Given the description of an element on the screen output the (x, y) to click on. 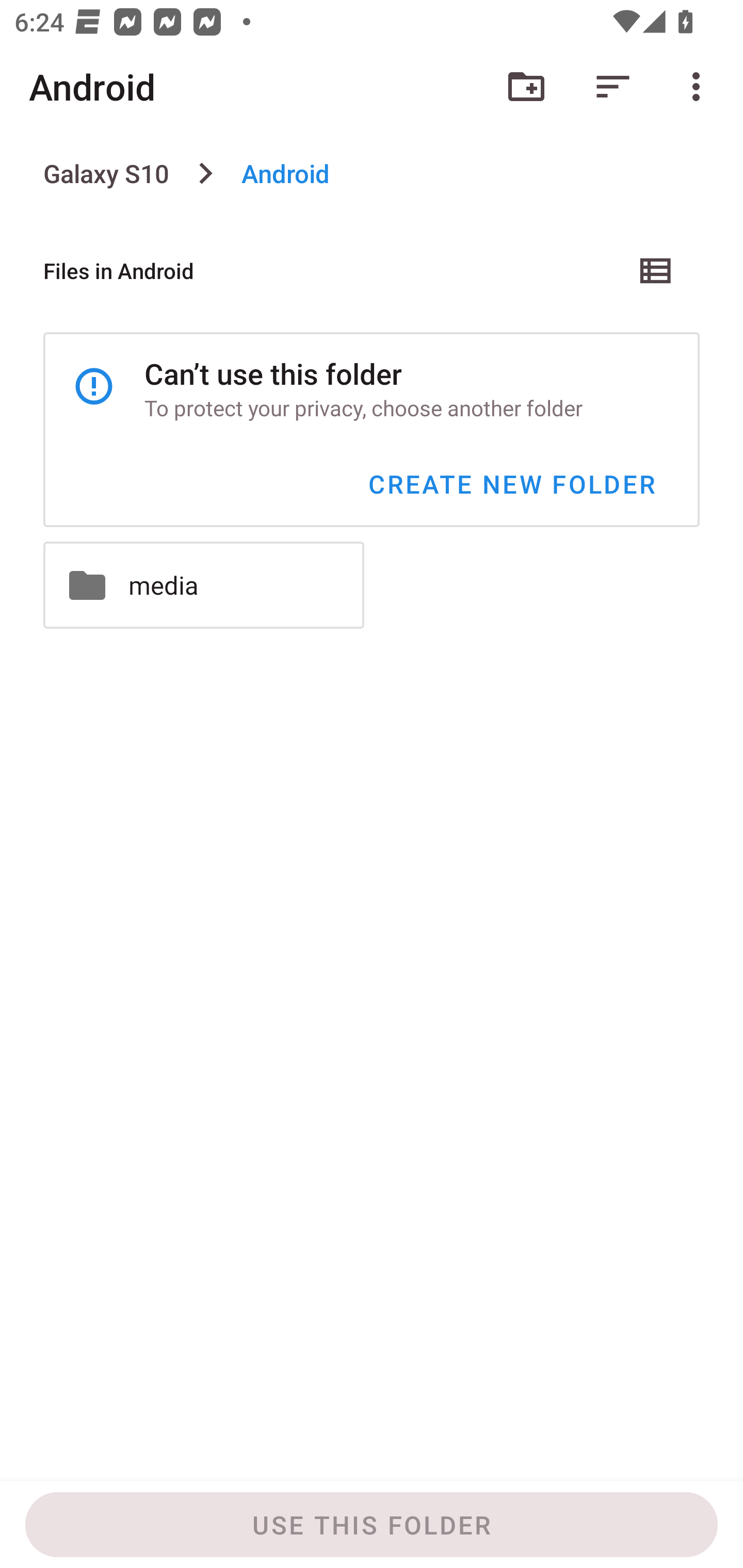
New folder (525, 86)
Sort by... (612, 86)
More options (699, 86)
List view (655, 270)
CREATE NEW FOLDER (511, 483)
media (203, 584)
USE THIS FOLDER (371, 1524)
